Given the description of an element on the screen output the (x, y) to click on. 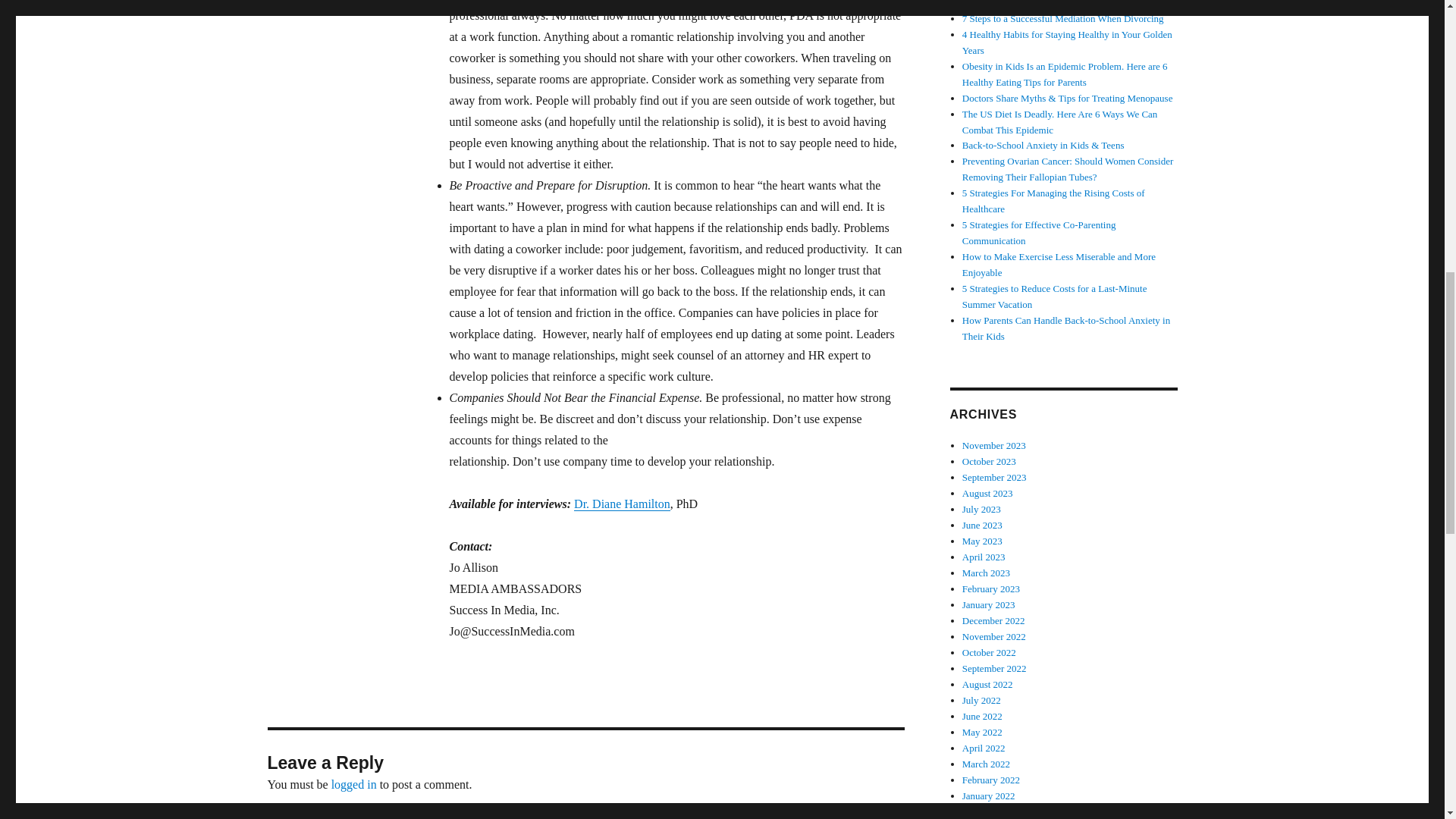
logged in (354, 784)
Dr. Diane Hamilton (621, 503)
4 Healthy Habits for Staying Healthy in Your Golden Years (1067, 42)
7 Steps to a Successful Mediation When Divorcing (1062, 18)
